Given the description of an element on the screen output the (x, y) to click on. 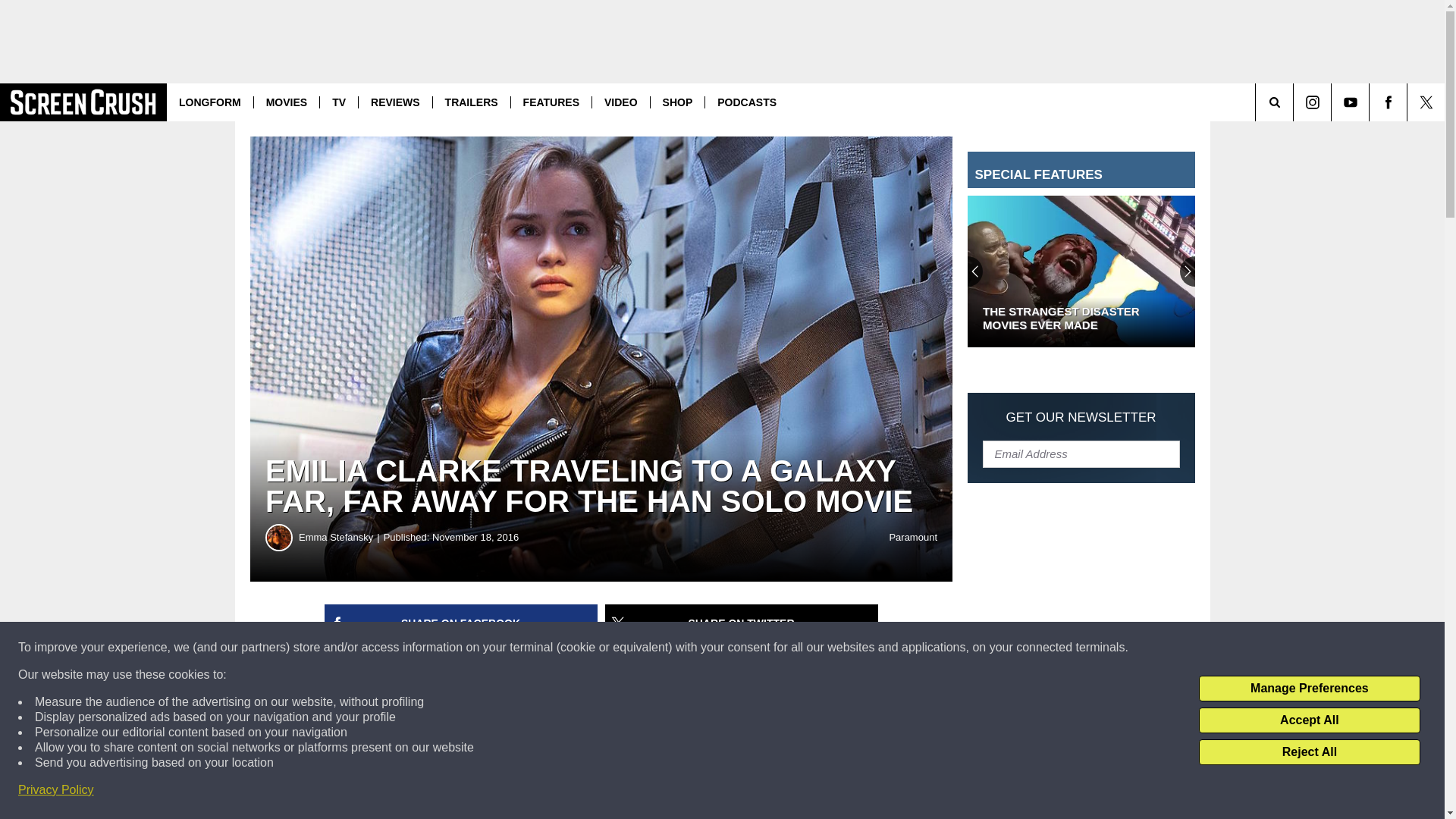
SEARCH (1295, 102)
Share on Twitter (741, 623)
Emma Stefansky (341, 537)
Game of Thrones (507, 700)
SEARCH (1295, 102)
LONGFORM (210, 102)
Visit us on Facebook (1388, 102)
TRAILERS (471, 102)
Email Address (1080, 452)
PODCASTS (746, 102)
Share on Facebook (460, 623)
Han Solo (700, 773)
Visit us on Youtube (1350, 102)
Star Wars (620, 749)
Visit us on Instagram (1312, 102)
